Given the description of an element on the screen output the (x, y) to click on. 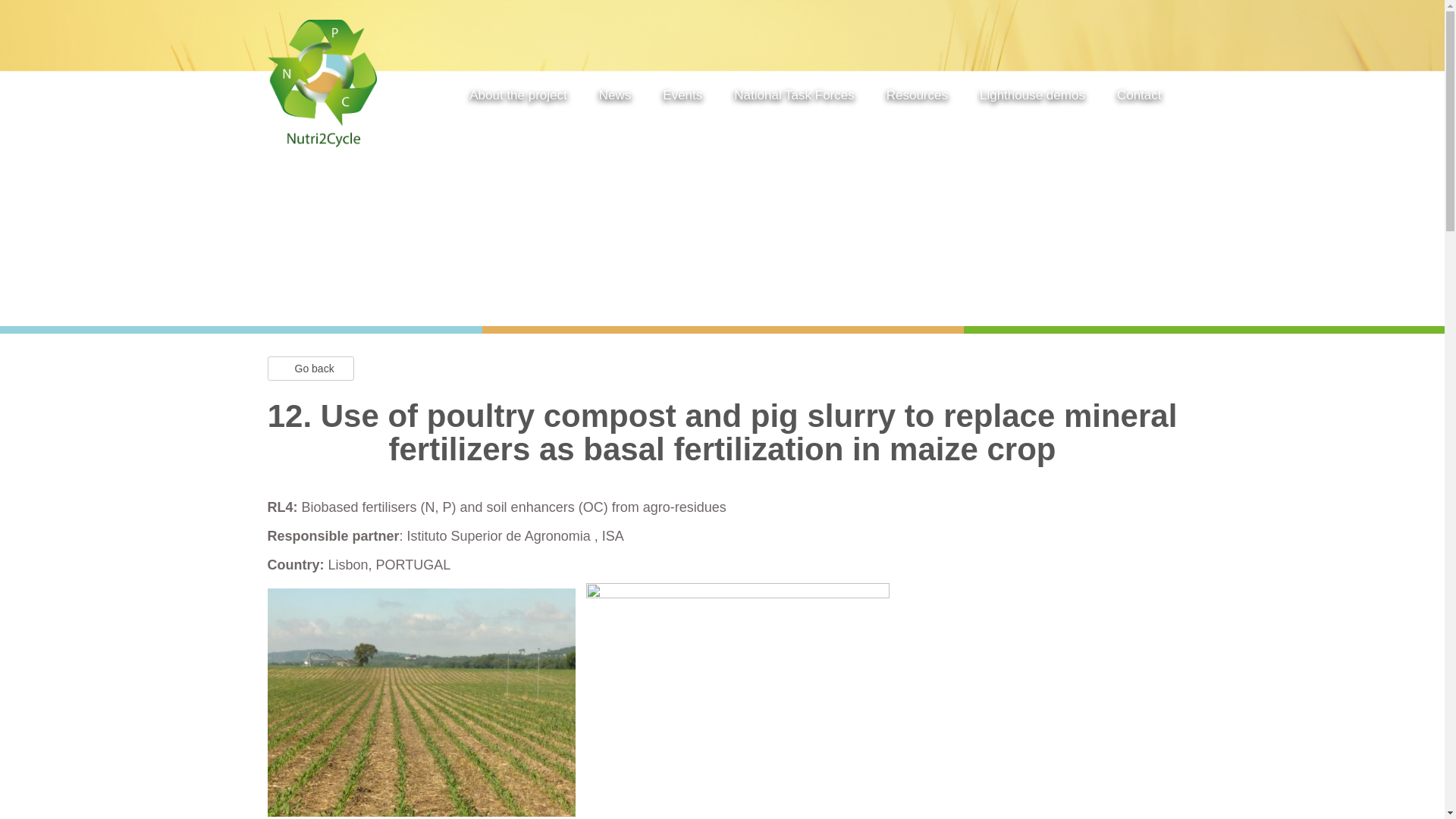
Contact (1138, 97)
Go back (309, 368)
Events (681, 97)
National Task Forces (793, 97)
About the project (517, 97)
Resources (916, 97)
Lighthouse demos (1031, 97)
News (614, 97)
